Given the description of an element on the screen output the (x, y) to click on. 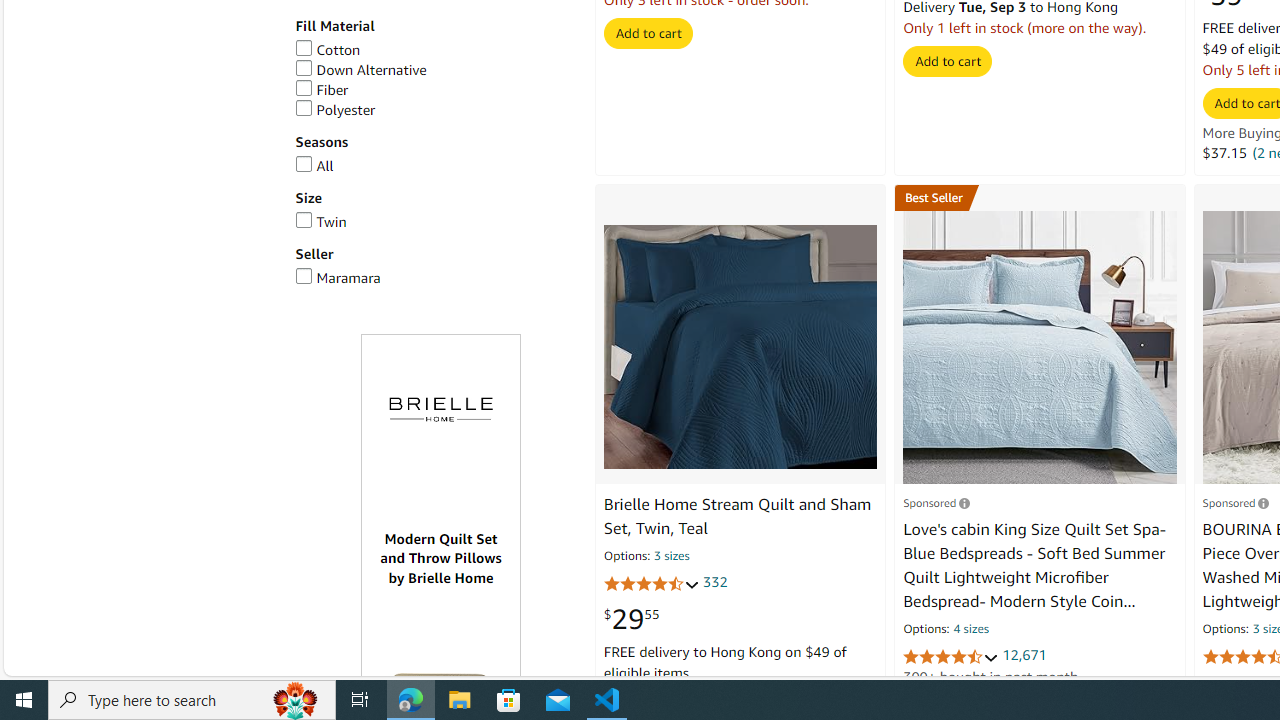
3 sizes (671, 557)
Add to cart (947, 61)
Polyester (335, 110)
